Given the description of an element on the screen output the (x, y) to click on. 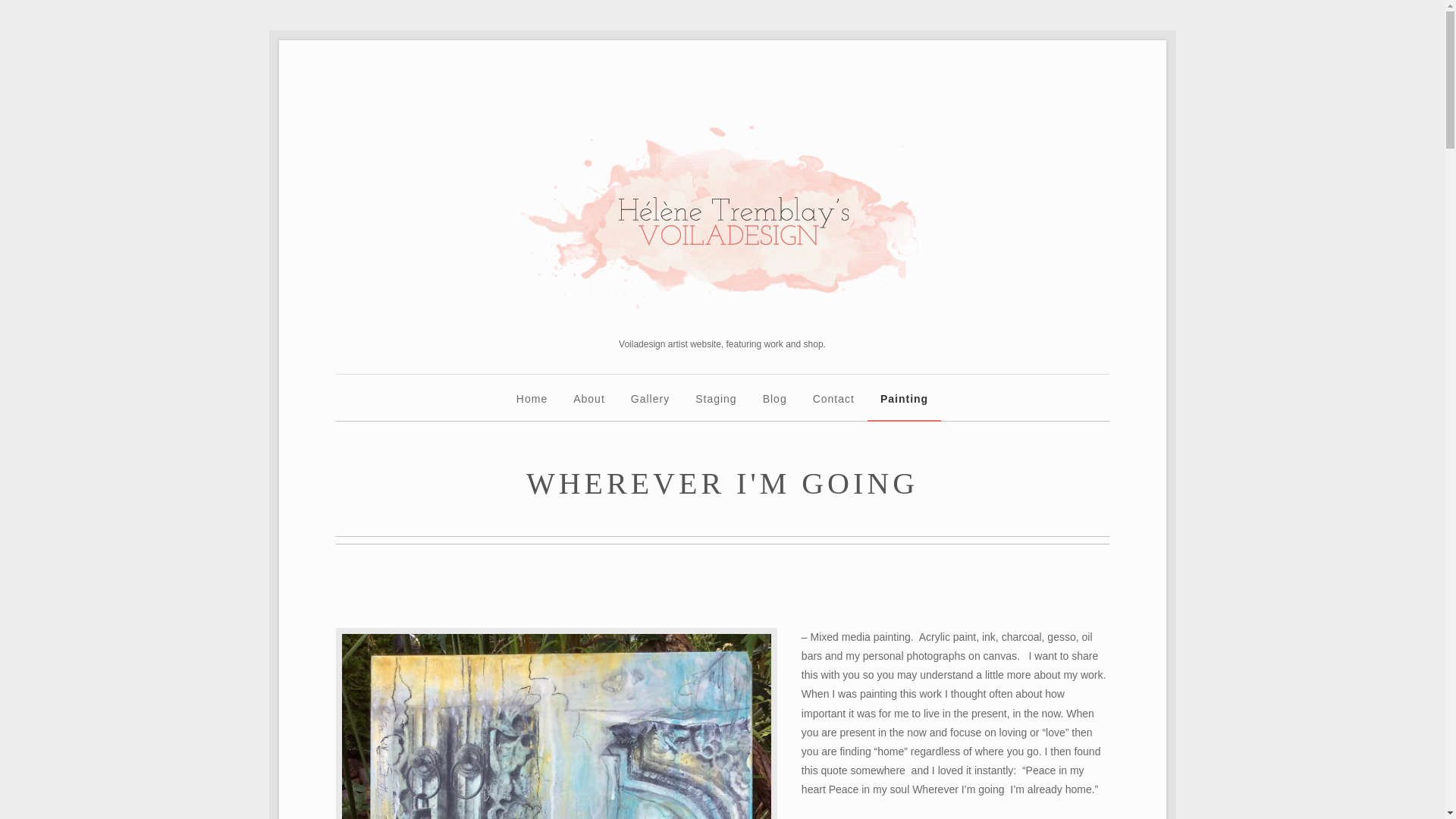
Home (531, 406)
Painting (904, 406)
Contact (833, 406)
Blog (774, 406)
Staging (715, 406)
Voiladesign (721, 216)
About (589, 406)
Gallery (649, 406)
